Given the description of an element on the screen output the (x, y) to click on. 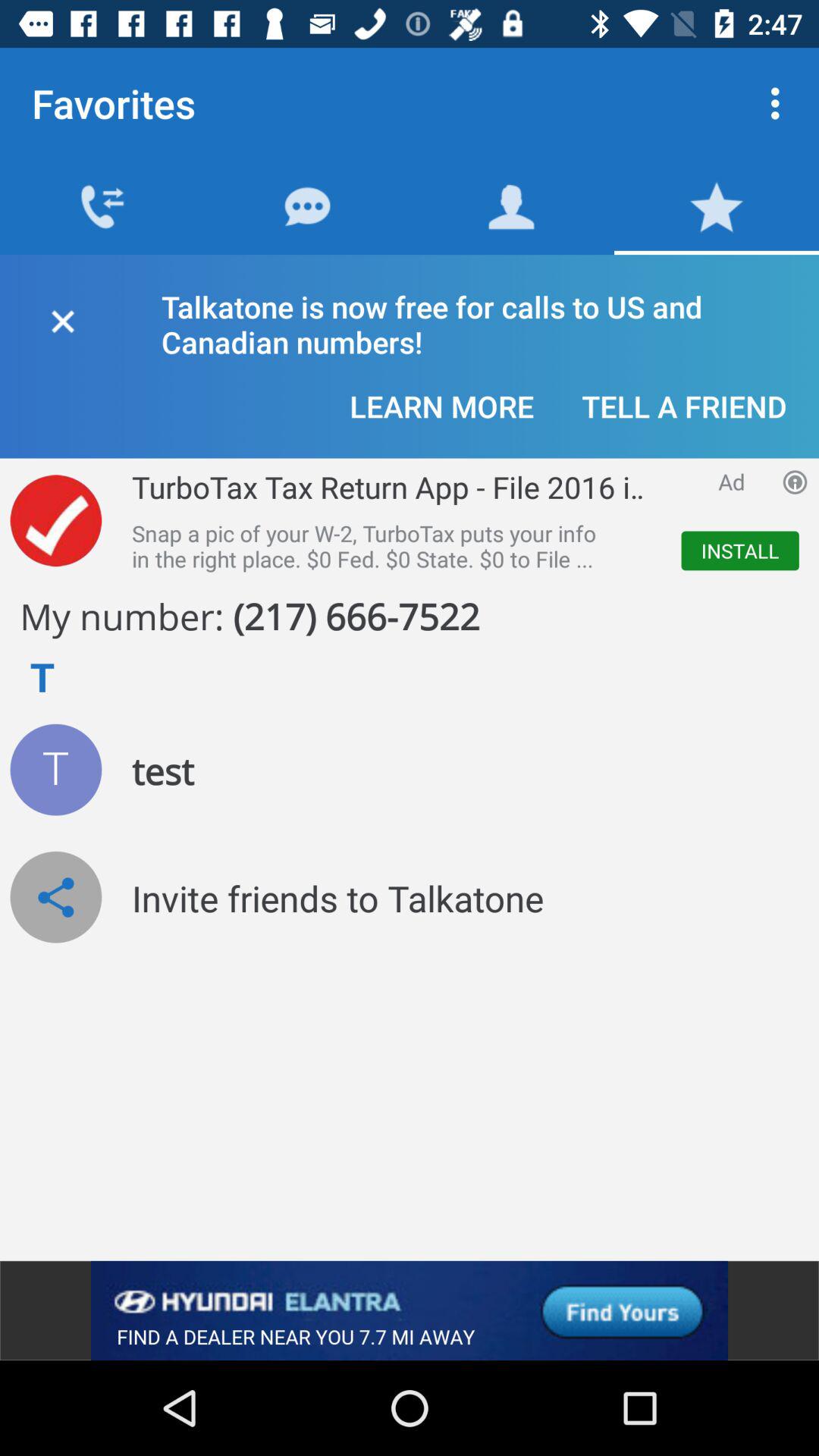
close notification (62, 318)
